Given the description of an element on the screen output the (x, y) to click on. 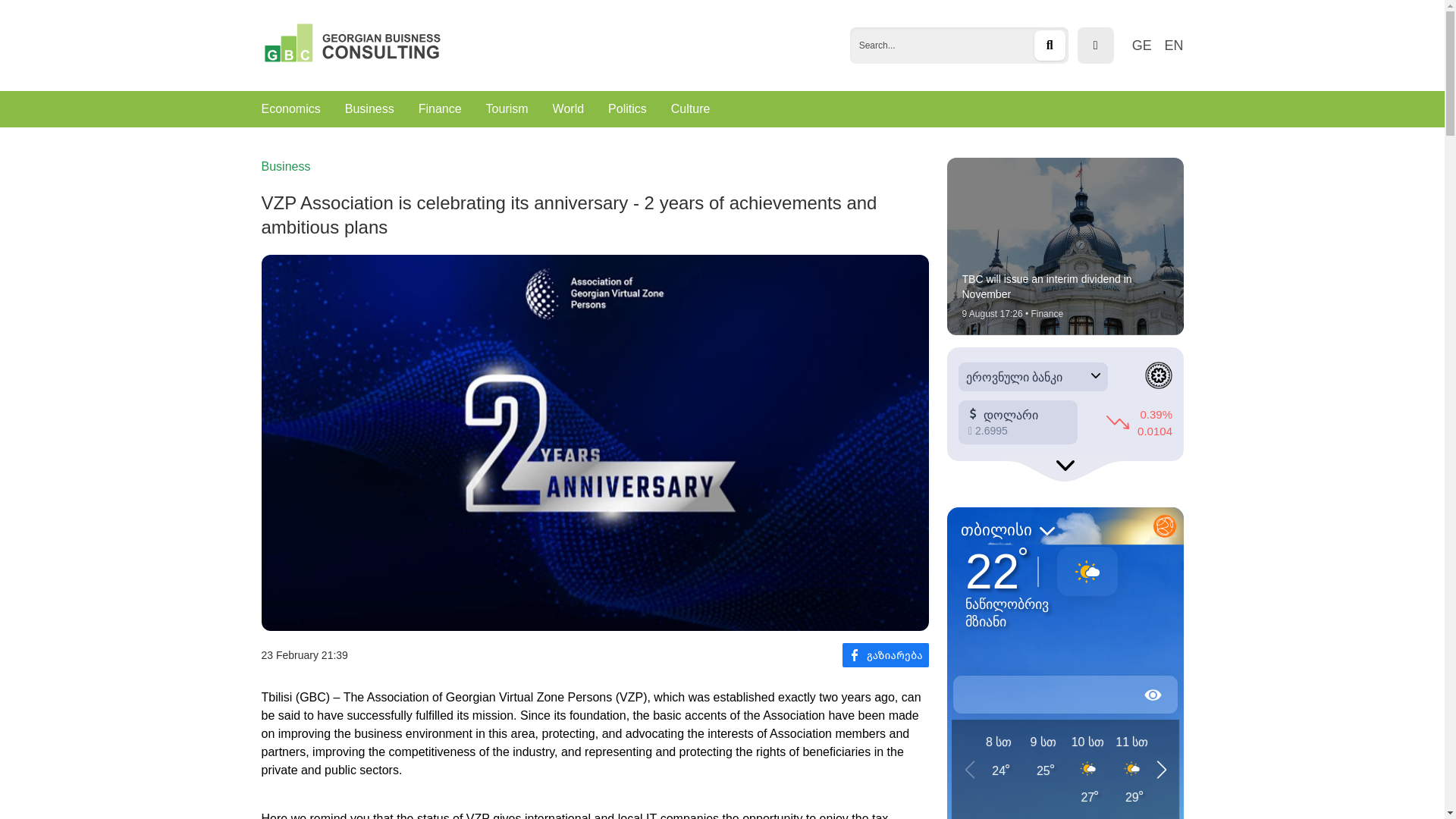
GE (1141, 45)
Tourism (507, 108)
World (569, 108)
Business (369, 108)
Culture (690, 108)
Finance (440, 108)
Politics (627, 108)
Economics (290, 108)
Business (285, 167)
EN (1172, 45)
